Given the description of an element on the screen output the (x, y) to click on. 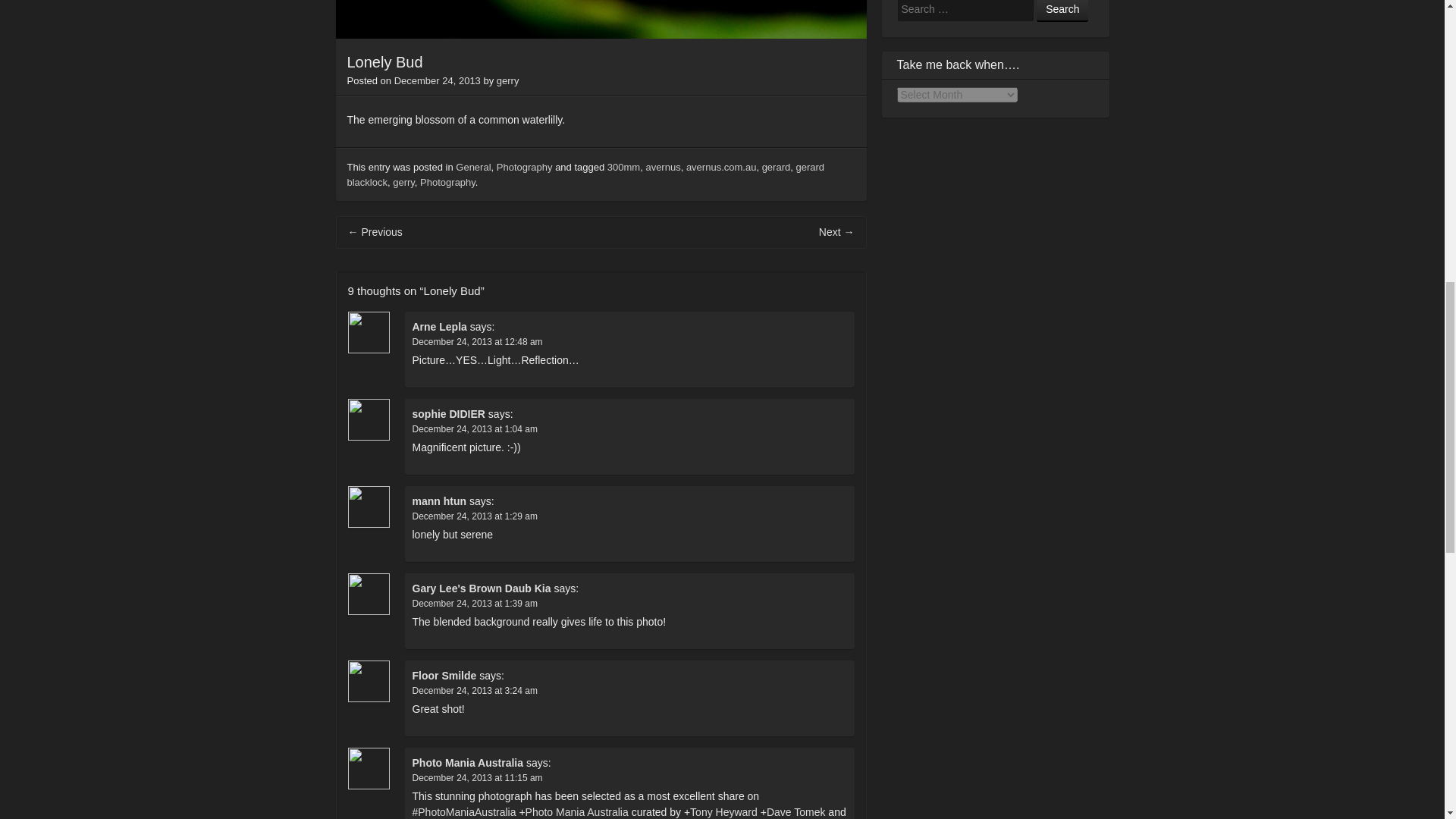
Photo Mania Australia (576, 811)
avernus.com.au (721, 166)
View all posts by gerry (507, 79)
gerry (403, 181)
Photography (448, 181)
December 24, 2013 at 3:24 am (474, 690)
December 24, 2013 at 1:04 am (474, 428)
December 24, 2013 at 1:39 am (474, 602)
Tony Heyward (723, 811)
Floor Smilde (444, 674)
gerry (507, 79)
General (472, 166)
Photography (524, 166)
300mm (623, 166)
Arne Lepla (439, 326)
